Given the description of an element on the screen output the (x, y) to click on. 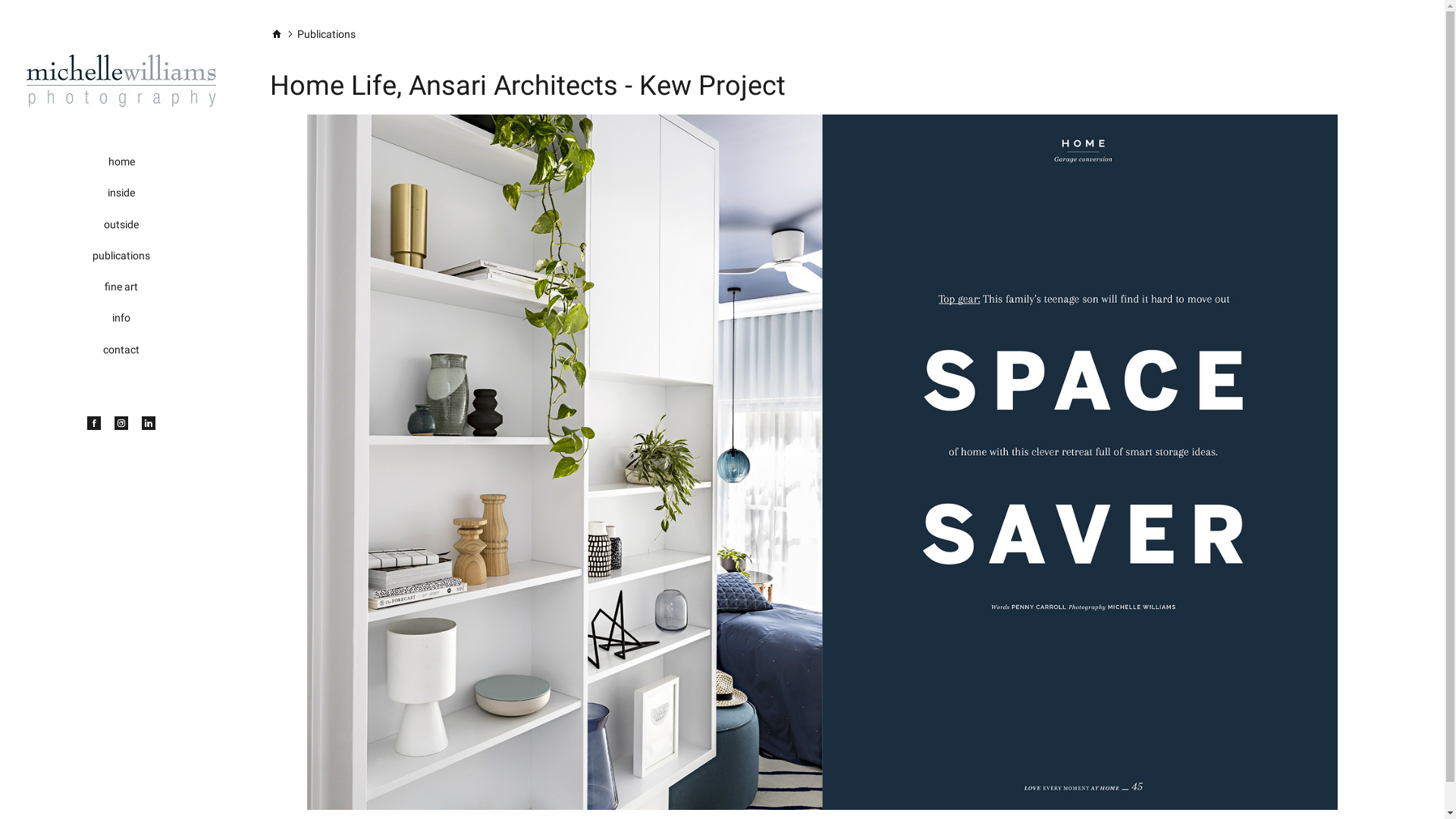
info Element type: text (121, 317)
home Element type: text (120, 161)
publications Element type: text (121, 255)
inside Element type: text (120, 192)
contact Element type: text (121, 349)
Publications Element type: text (326, 34)
fine art Element type: text (121, 286)
outside Element type: text (120, 224)
